Given the description of an element on the screen output the (x, y) to click on. 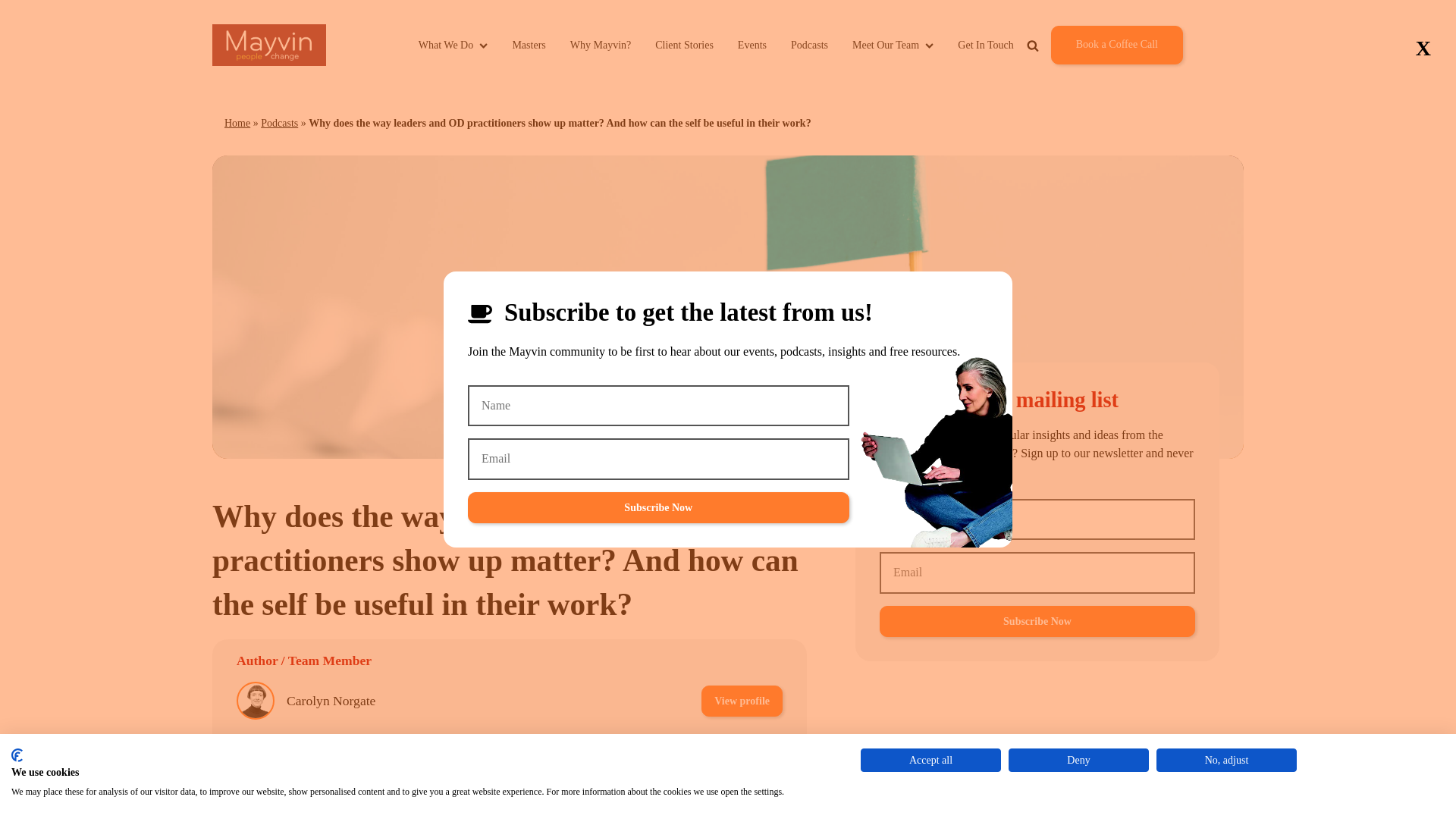
Podcasts (279, 122)
Home (237, 122)
Subscribe Now (1037, 621)
Book a Coffee Call (1116, 44)
Events (752, 45)
Podcasts (809, 45)
Organisation Development (513, 805)
Subscribe Now (657, 507)
What We Do (453, 45)
Accept all (930, 760)
Carolyn Norgate (330, 700)
X (1423, 48)
Masters (528, 45)
Search (1078, 80)
Meet Our Team (892, 45)
